Given the description of an element on the screen output the (x, y) to click on. 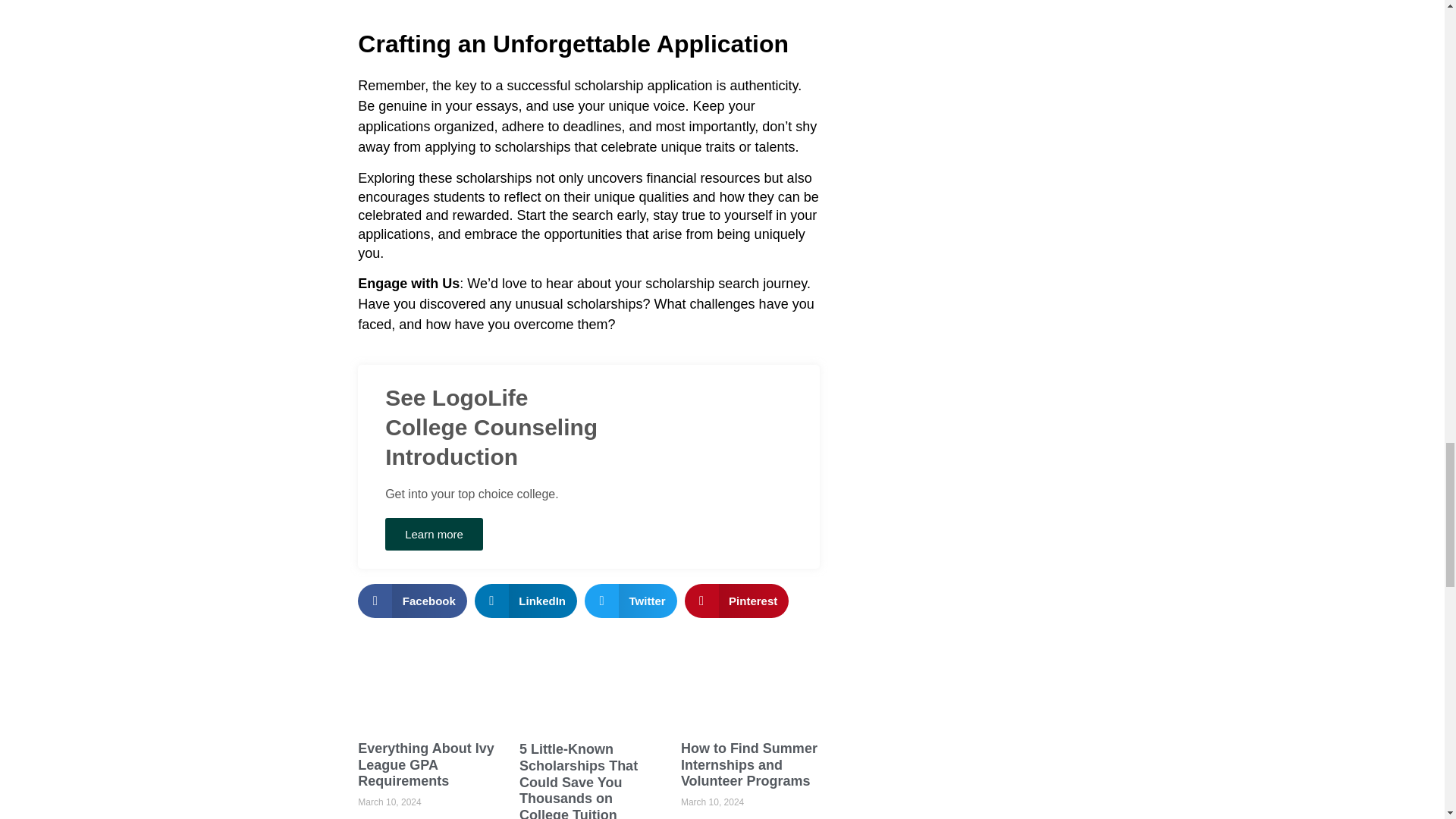
How to Find Summer Internships and Volunteer Programs (748, 764)
Learn more (434, 533)
Everything About Ivy League GPA Requirements (425, 764)
